Given the description of an element on the screen output the (x, y) to click on. 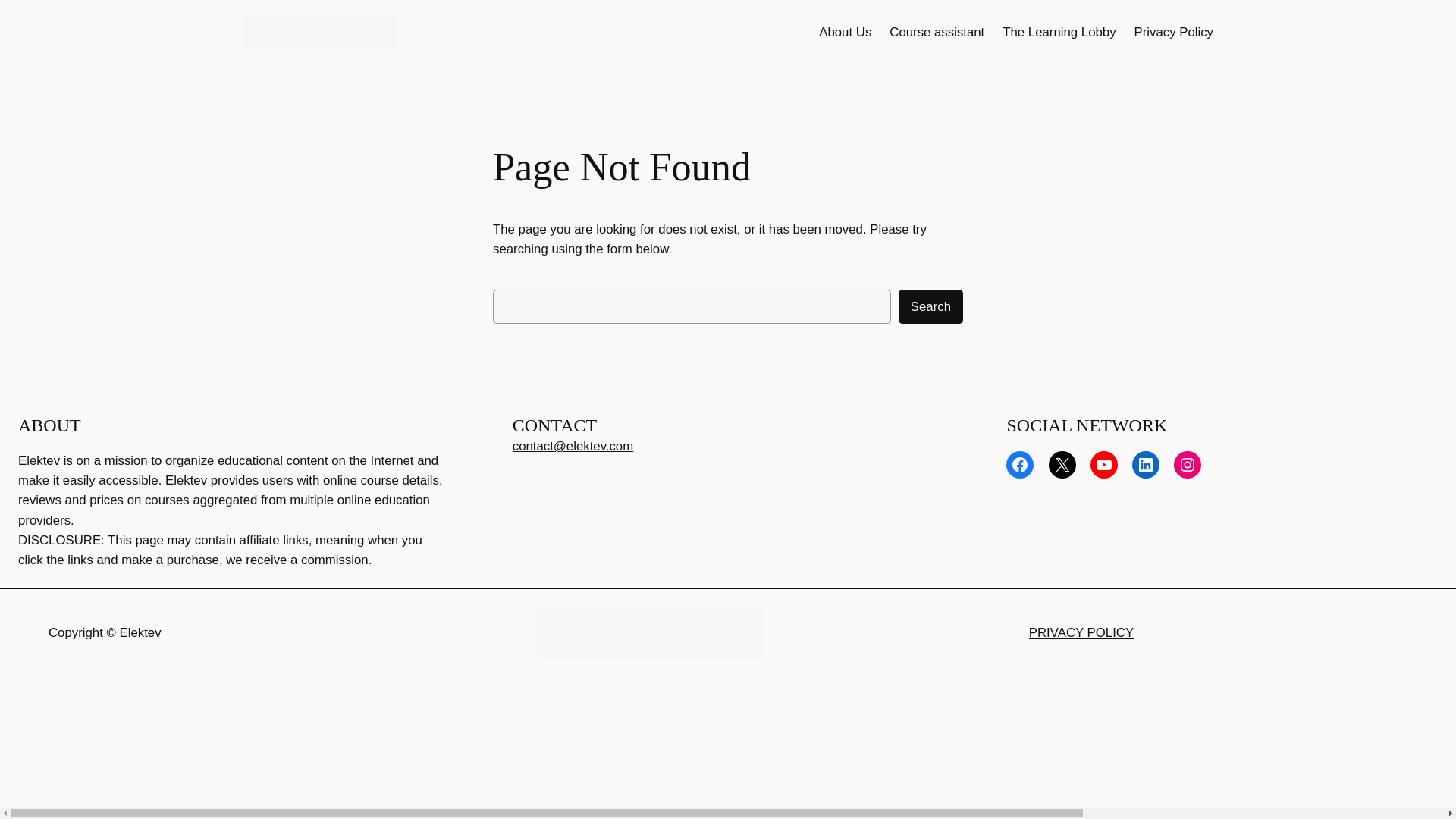
Search (930, 306)
LinkedIn (1145, 464)
Facebook (1019, 464)
About Us (844, 32)
Privacy Policy (1173, 32)
Course assistant (936, 32)
The Learning Lobby (1059, 32)
PRIVACY POLICY (1081, 632)
Instagram (1187, 464)
X (1061, 464)
YouTube (1104, 464)
